Given the description of an element on the screen output the (x, y) to click on. 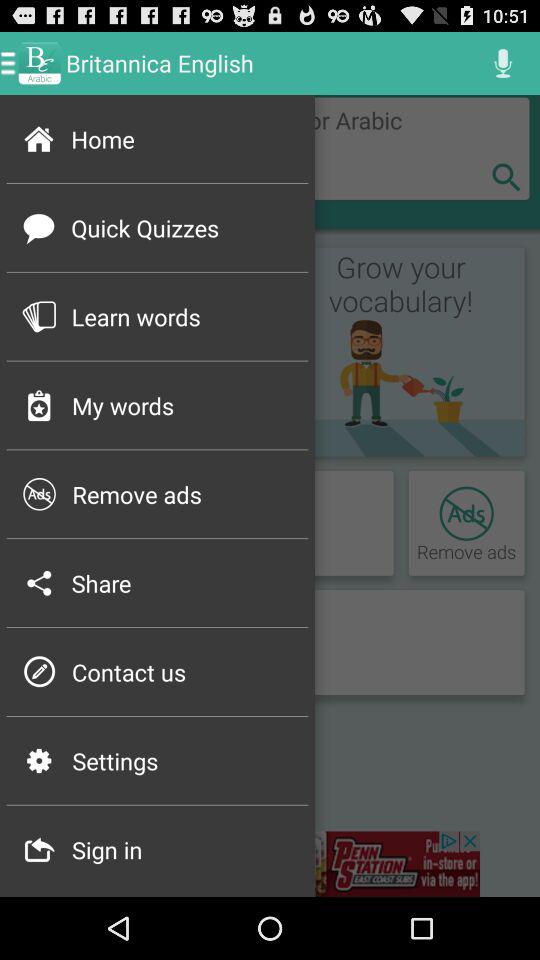
select settings (183, 760)
